Given the description of an element on the screen output the (x, y) to click on. 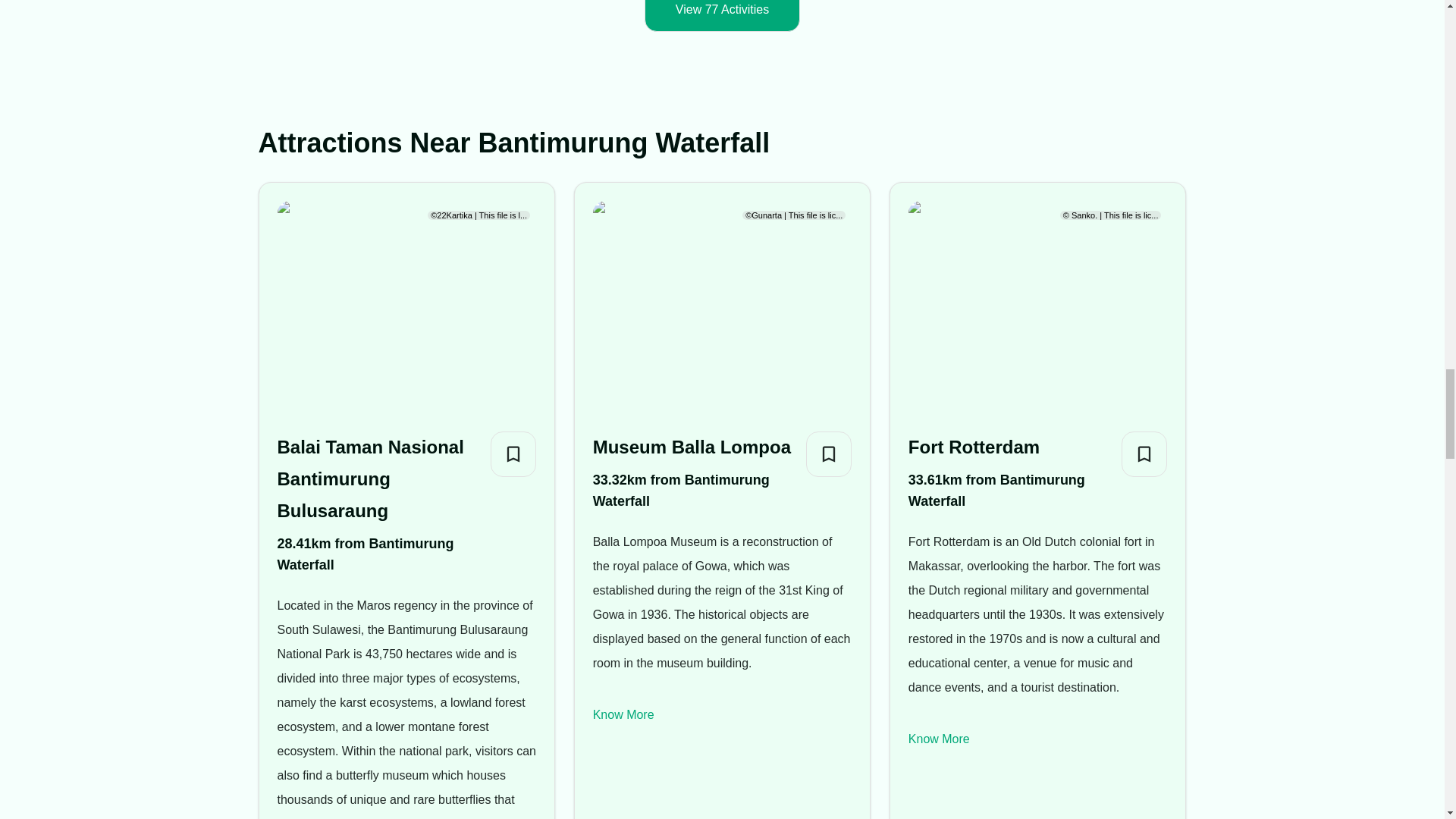
Add to Bucket List (512, 453)
Add to Bucket List (1144, 453)
Add to Bucket List (828, 453)
